Given the description of an element on the screen output the (x, y) to click on. 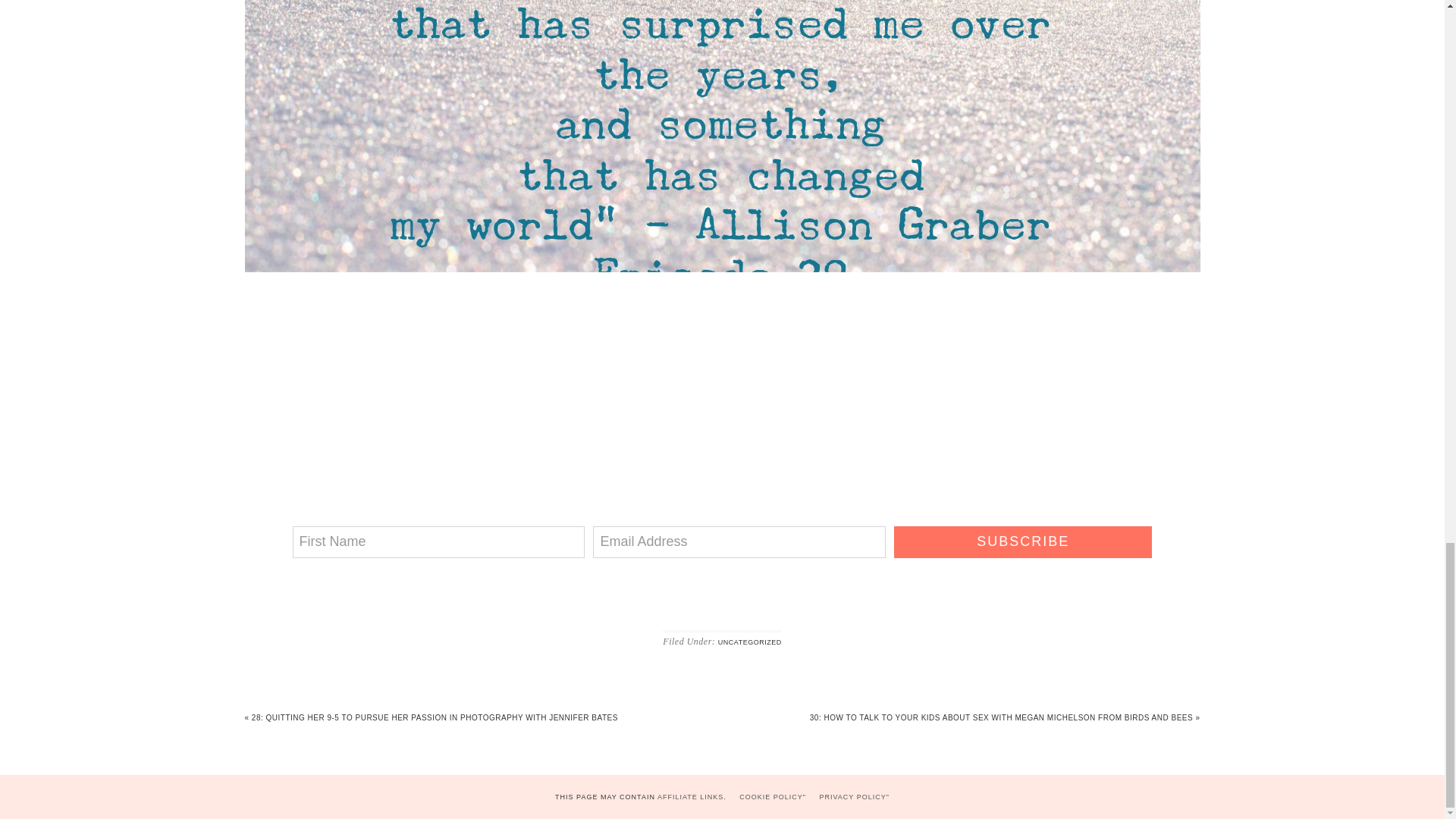
AFFILIATE LINKS (690, 796)
COOKIE POLICY" (772, 796)
PRIVACY POLICY" (854, 796)
UNCATEGORIZED (749, 642)
SUBSCRIBE (1022, 541)
